Given the description of an element on the screen output the (x, y) to click on. 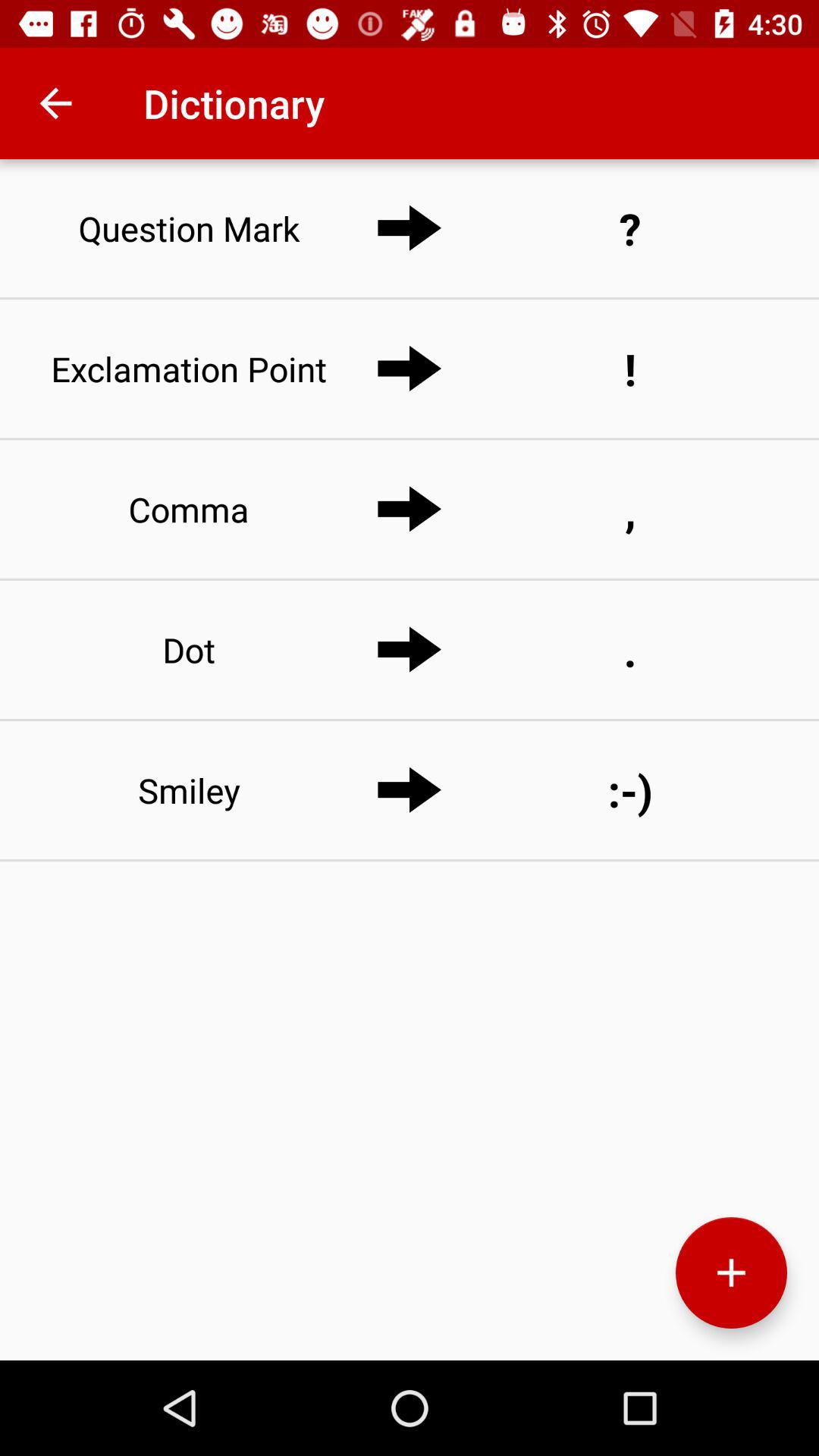
add new (731, 1272)
